Given the description of an element on the screen output the (x, y) to click on. 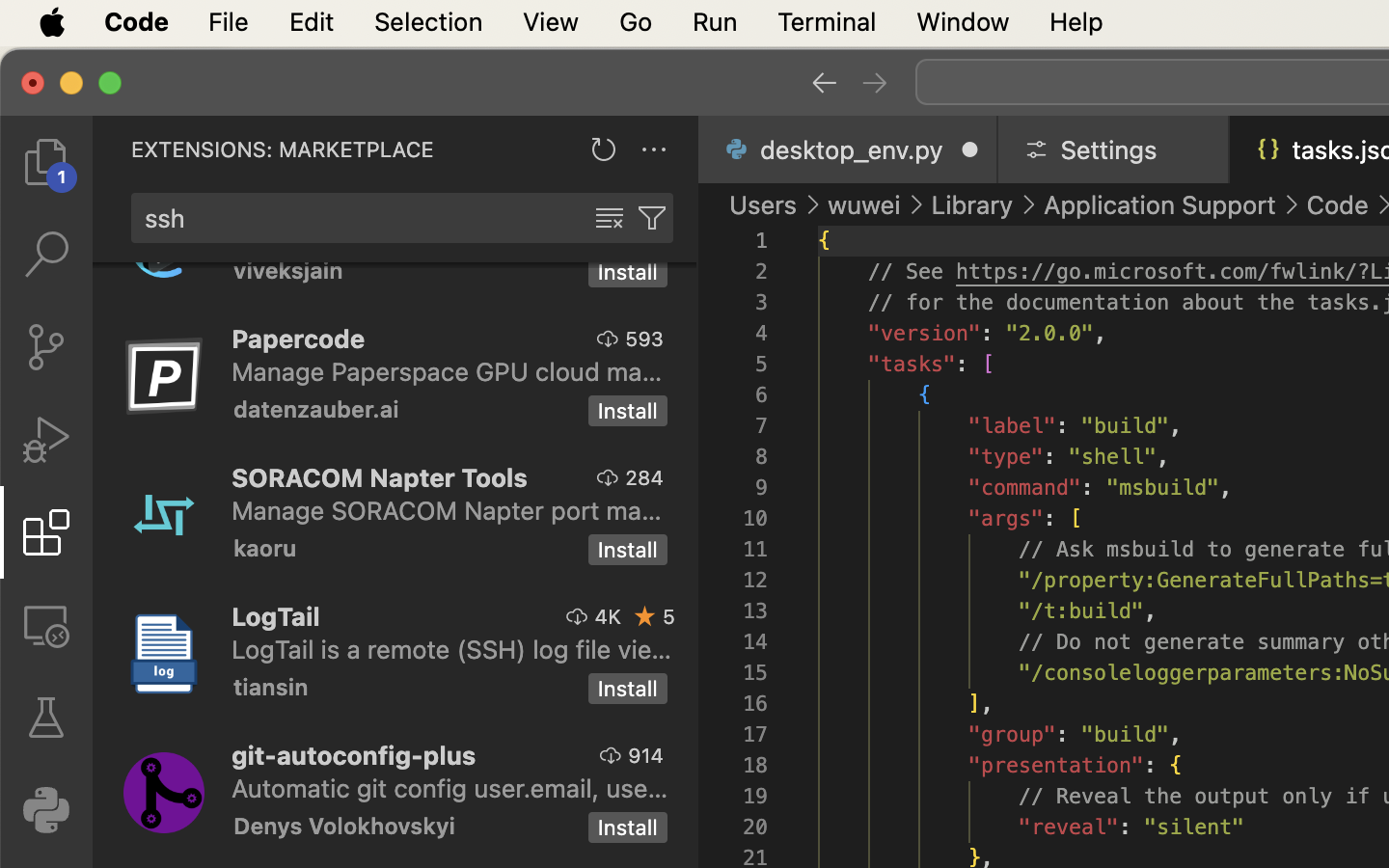
914 Element type: AXStaticText (645, 754)
Application Support Element type: AXGroup (1160, 204)
Denys Volokhovskyi Element type: AXStaticText (344, 825)
git-autoconfig-plus Element type: AXStaticText (353, 754)
wuwei Element type: AXGroup (863, 204)
